Given the description of an element on the screen output the (x, y) to click on. 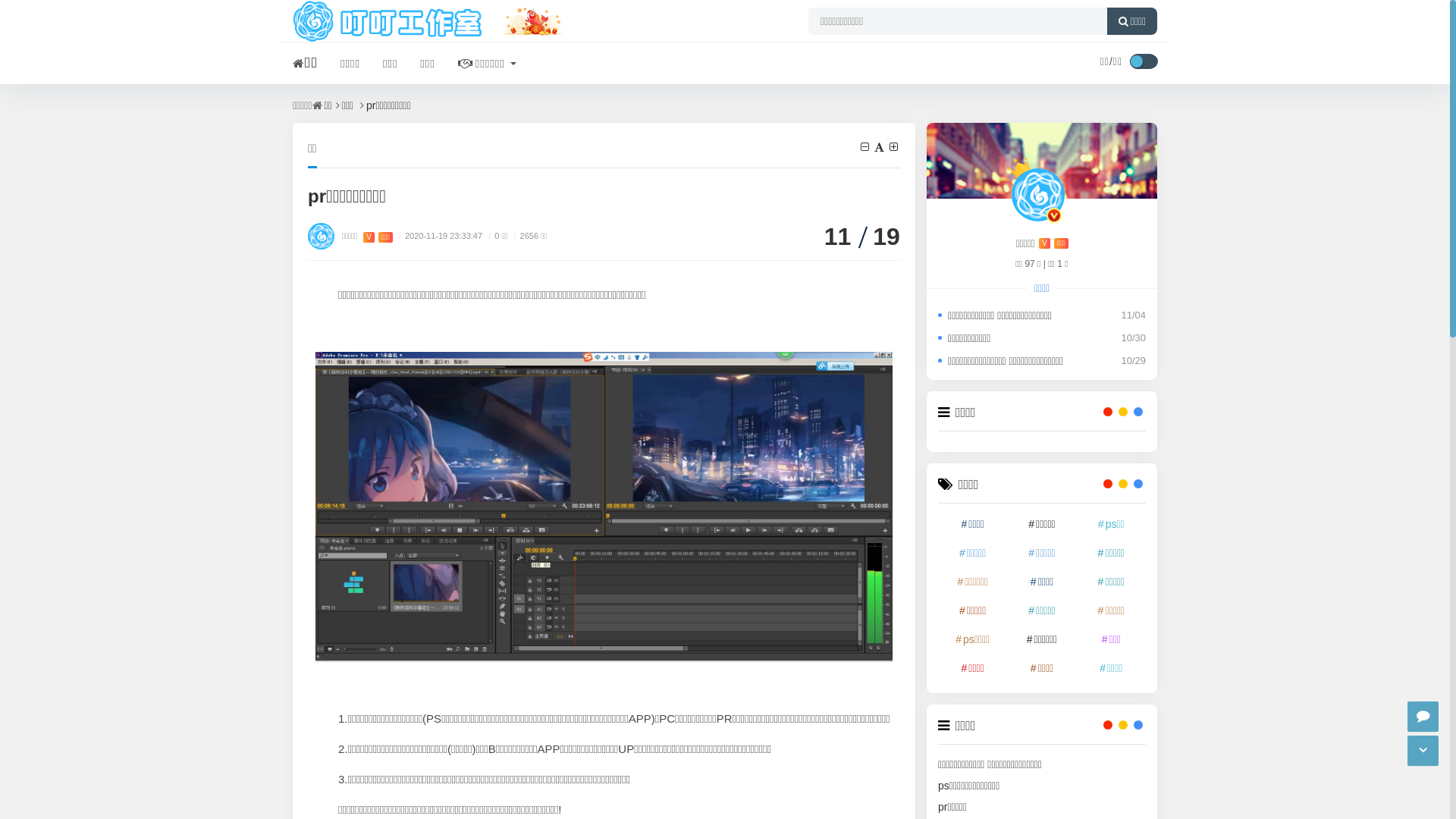
timg.jpg Element type: hover (603, 506)
timg.jpg Element type: hover (603, 539)
